Given the description of an element on the screen output the (x, y) to click on. 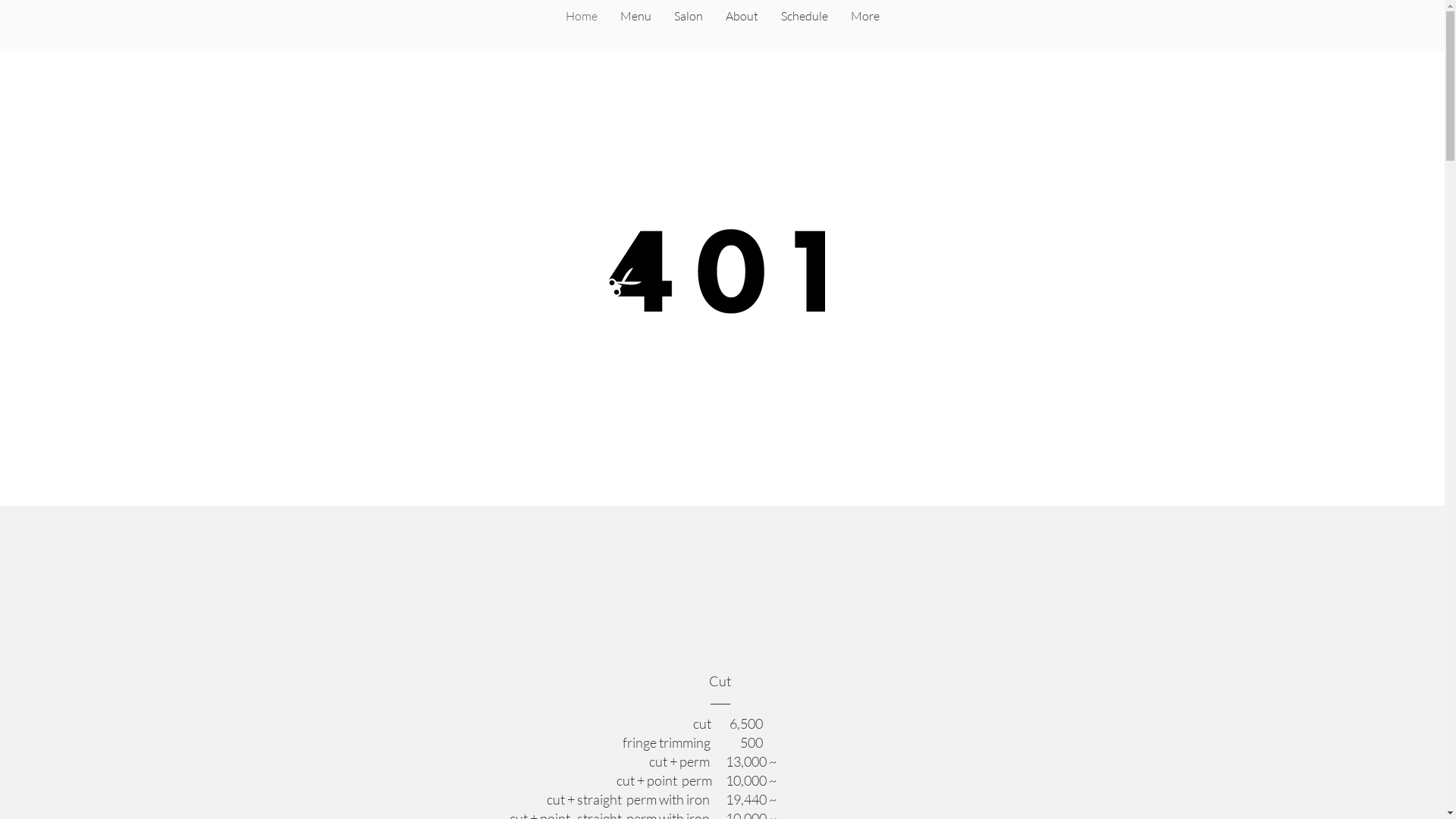
About Element type: text (741, 26)
Home Element type: text (580, 26)
Schedule Element type: text (803, 26)
Menu Element type: text (635, 26)
Salon Element type: text (688, 26)
